Given the description of an element on the screen output the (x, y) to click on. 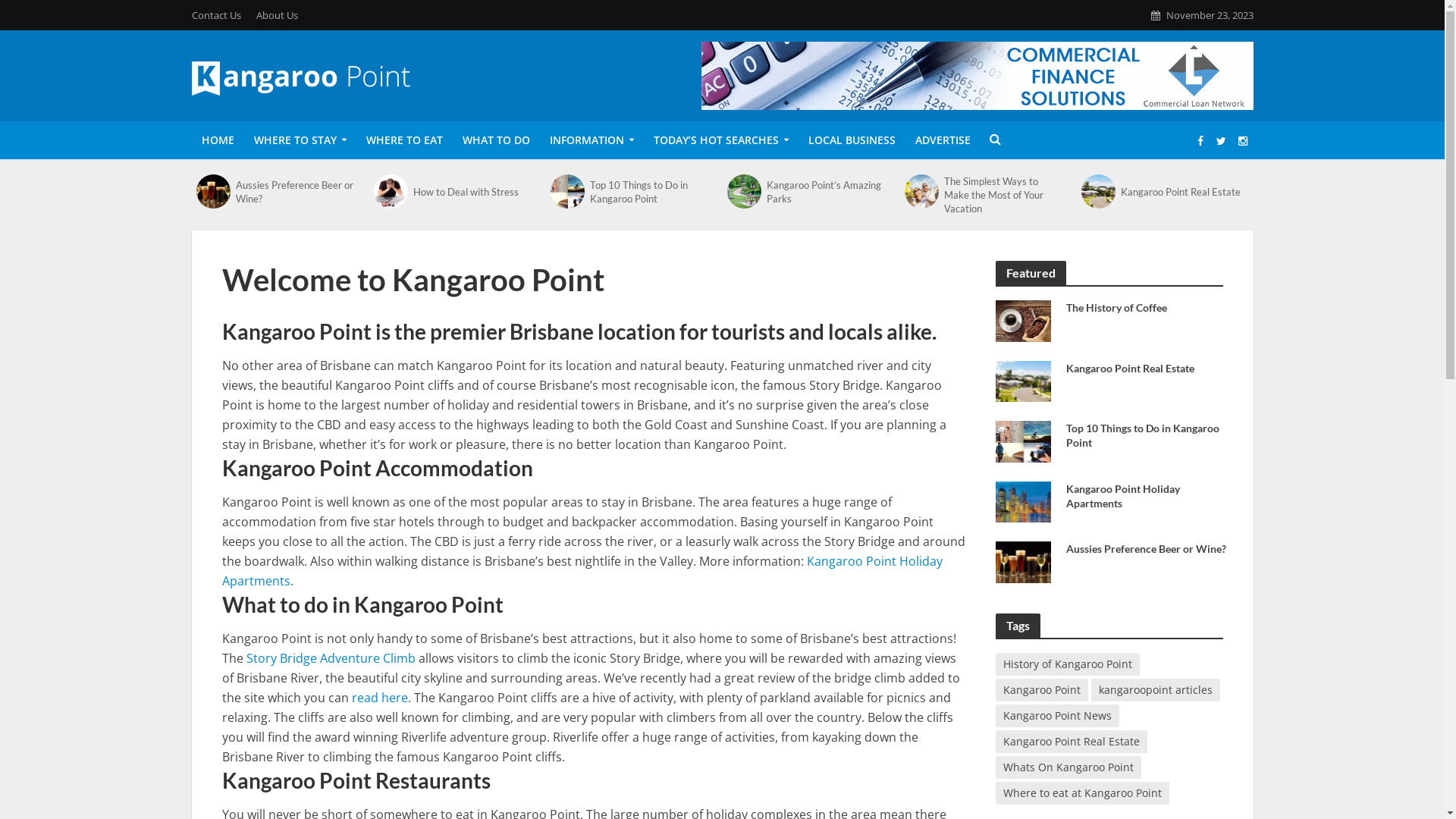
How to Deal with Stress Element type: text (473, 191)
About Us Element type: text (276, 15)
Whats On Kangaroo Point Element type: text (1067, 766)
Aussies Preference Beer or Wine? Element type: text (295, 190)
LOCAL BUSINESS Element type: text (850, 140)
The History of Coffee Element type: hover (1022, 318)
How to Deal with Stress Element type: hover (390, 191)
WHERE TO STAY Element type: text (300, 140)
INFORMATION Element type: text (591, 140)
Story Bridge Adventure Climb Element type: text (329, 659)
Aussies Preference Beer or Wine? Element type: hover (213, 191)
Kangaroo Point Holiday Apartments Element type: text (1146, 494)
History of Kangaroo Point Element type: text (1066, 663)
HOME Element type: text (217, 140)
kangaroopoint articles Element type: text (1154, 688)
Aussies Preference Beer or Wine? Element type: text (1146, 548)
Kangaroo Point Real Estate Element type: text (1070, 740)
Kangaroo Point Real Estate Element type: hover (1098, 191)
Kangaroo Point Holiday Apartments Element type: hover (1022, 500)
Kangaroo Point Holiday Apartments Element type: text (581, 572)
Kangaroo Point Real Estate Element type: text (1180, 191)
Kangaroo Point Element type: text (1040, 688)
Top 10 Things to Do in Kangaroo Point Element type: hover (1022, 439)
Contact Us Element type: text (219, 15)
The Simplest Ways to Make the Most of Your Vacation Element type: hover (921, 191)
Top 10 Things to Do in Kangaroo Point Element type: text (649, 190)
The Simplest Ways to Make the Most of Your Vacation Element type: text (1004, 194)
Aussies Preference Beer or Wine? Element type: hover (1022, 559)
Top 10 Things to Do in Kangaroo Point Element type: text (1146, 434)
ADVERTISE Element type: text (942, 140)
WHAT TO DO Element type: text (495, 140)
read here Element type: text (379, 699)
Kangaroo Point Real Estate Element type: text (1146, 367)
Kangaroo Point News Element type: text (1056, 714)
The History of Coffee Element type: text (1146, 307)
Where to eat at Kangaroo Point Element type: text (1081, 792)
WHERE TO EAT Element type: text (404, 140)
Top 10 Things to Do in Kangaroo Point Element type: hover (567, 191)
Kangaroo Point Real Estate Element type: hover (1022, 379)
